Given the description of an element on the screen output the (x, y) to click on. 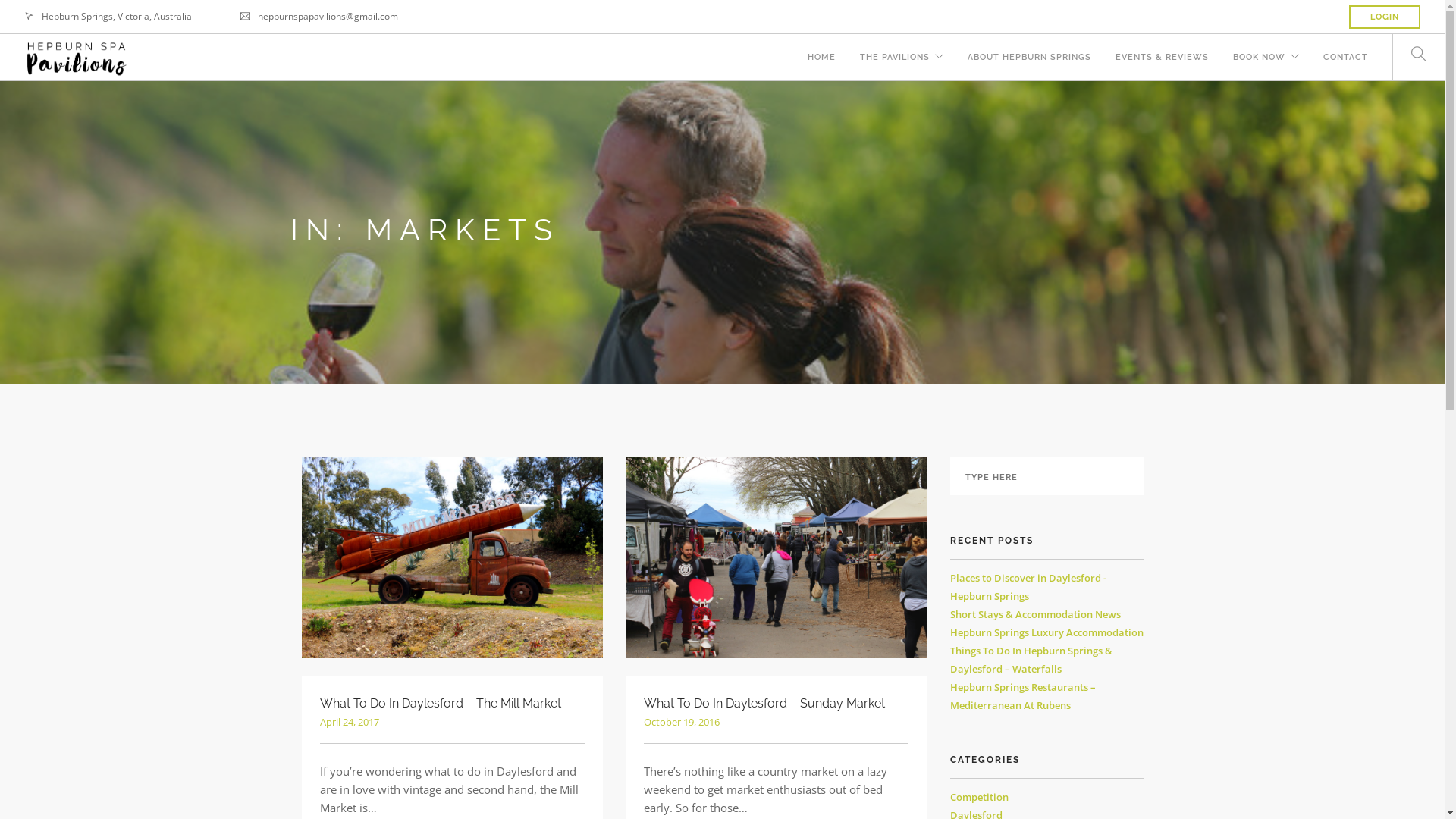
EVENTS & REVIEWS Element type: text (1161, 55)
BOOK NOW Element type: text (1259, 55)
Places to Discover in Daylesford -Hepburn Springs Element type: text (1027, 586)
HOME Element type: text (821, 55)
THE PAVILIONS Element type: text (894, 55)
LOGIN Element type: text (1384, 16)
ABOUT HEPBURN SPRINGS Element type: text (1029, 55)
CONTACT Element type: text (1345, 55)
Competition Element type: text (978, 796)
Short Stays & Accommodation News Element type: text (1034, 614)
Hepburn Springs Luxury Accommodation Element type: text (1045, 632)
